Given the description of an element on the screen output the (x, y) to click on. 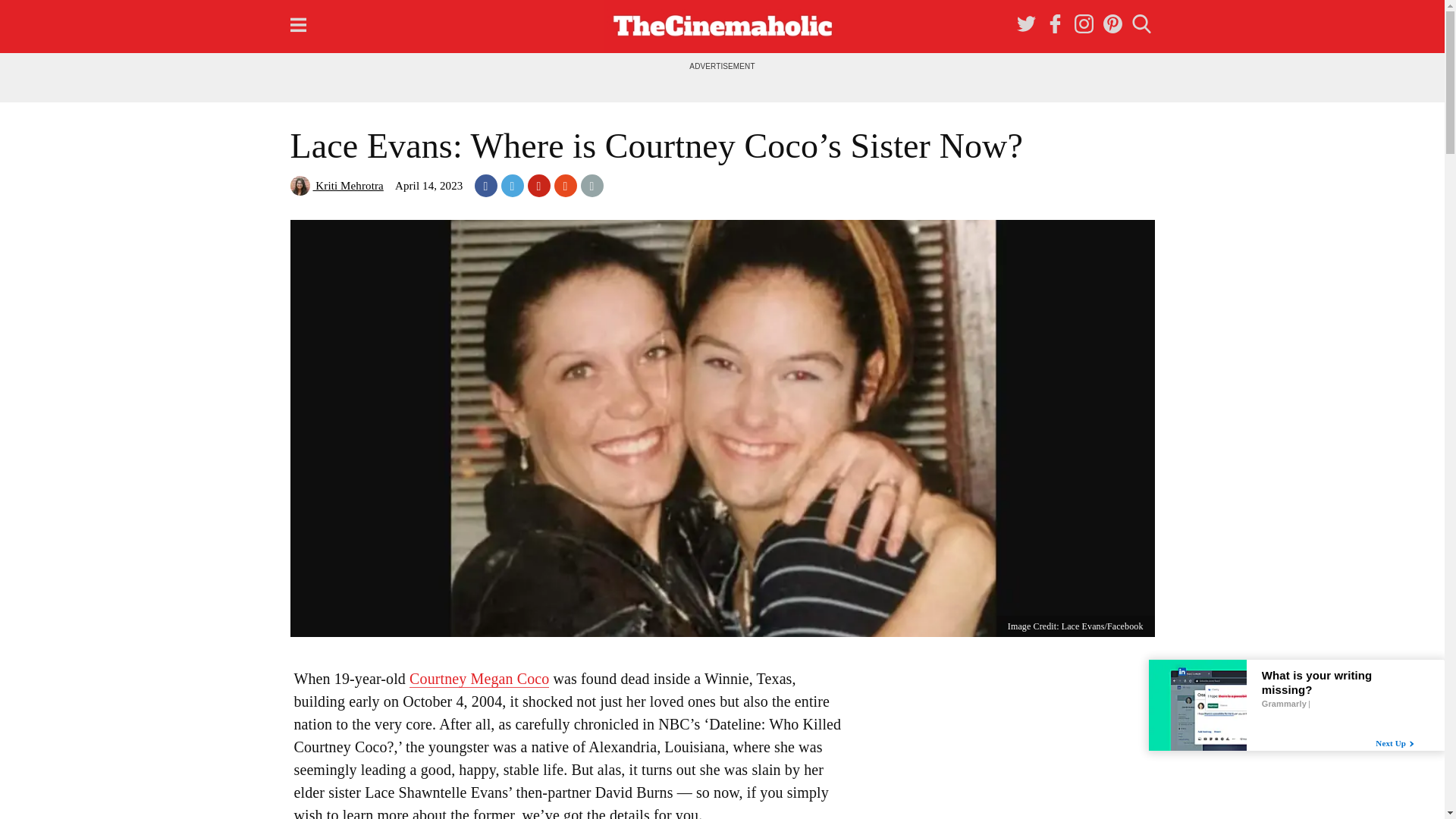
Courtney Megan Coco (478, 678)
Kriti Mehrotra (335, 185)
